Given the description of an element on the screen output the (x, y) to click on. 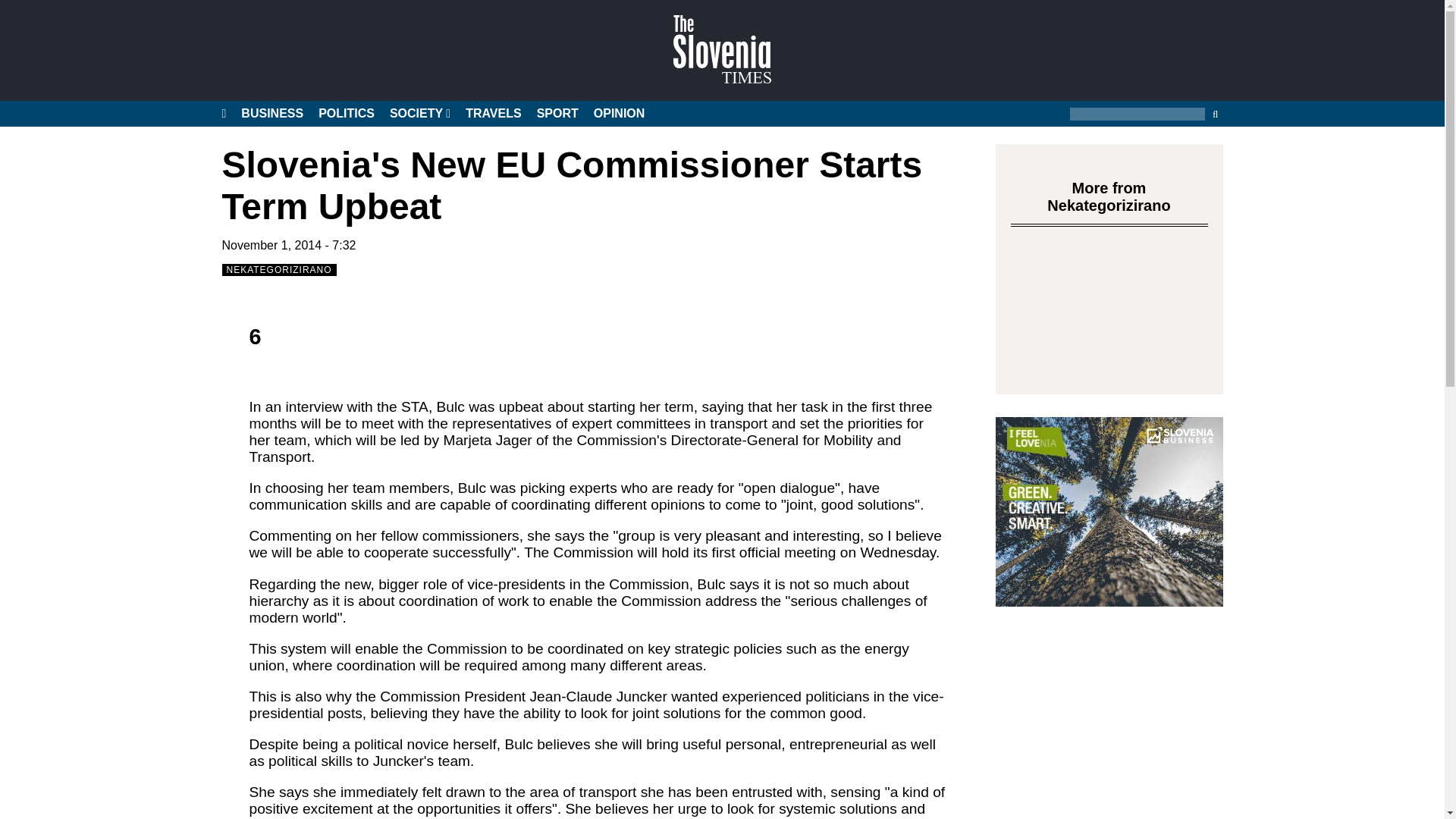
BUSINESS (271, 113)
SPORT (557, 113)
TRAVELS (493, 113)
POLITICS (346, 113)
OPINION (619, 113)
